Given the description of an element on the screen output the (x, y) to click on. 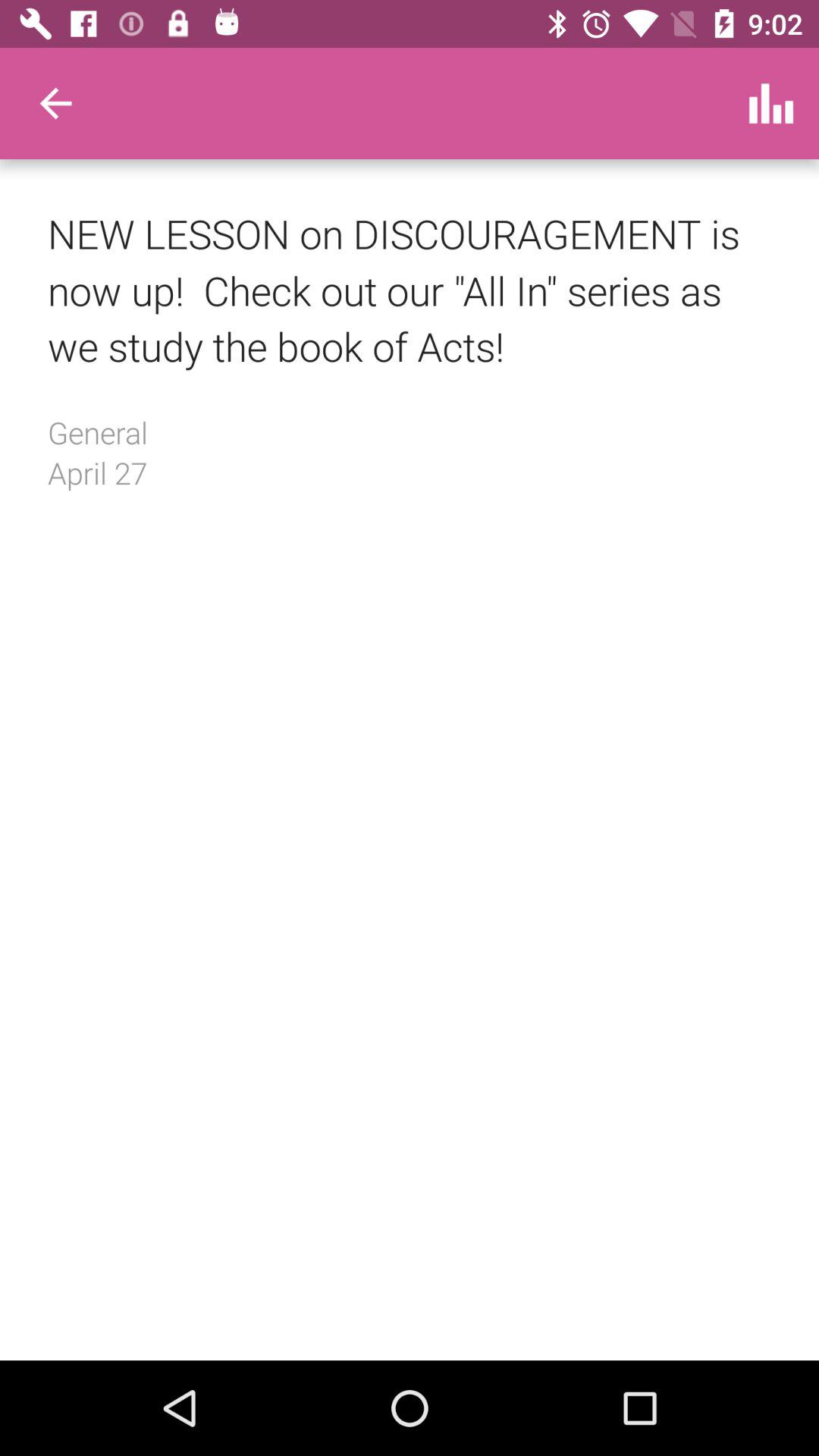
launch icon at the top right corner (771, 103)
